Given the description of an element on the screen output the (x, y) to click on. 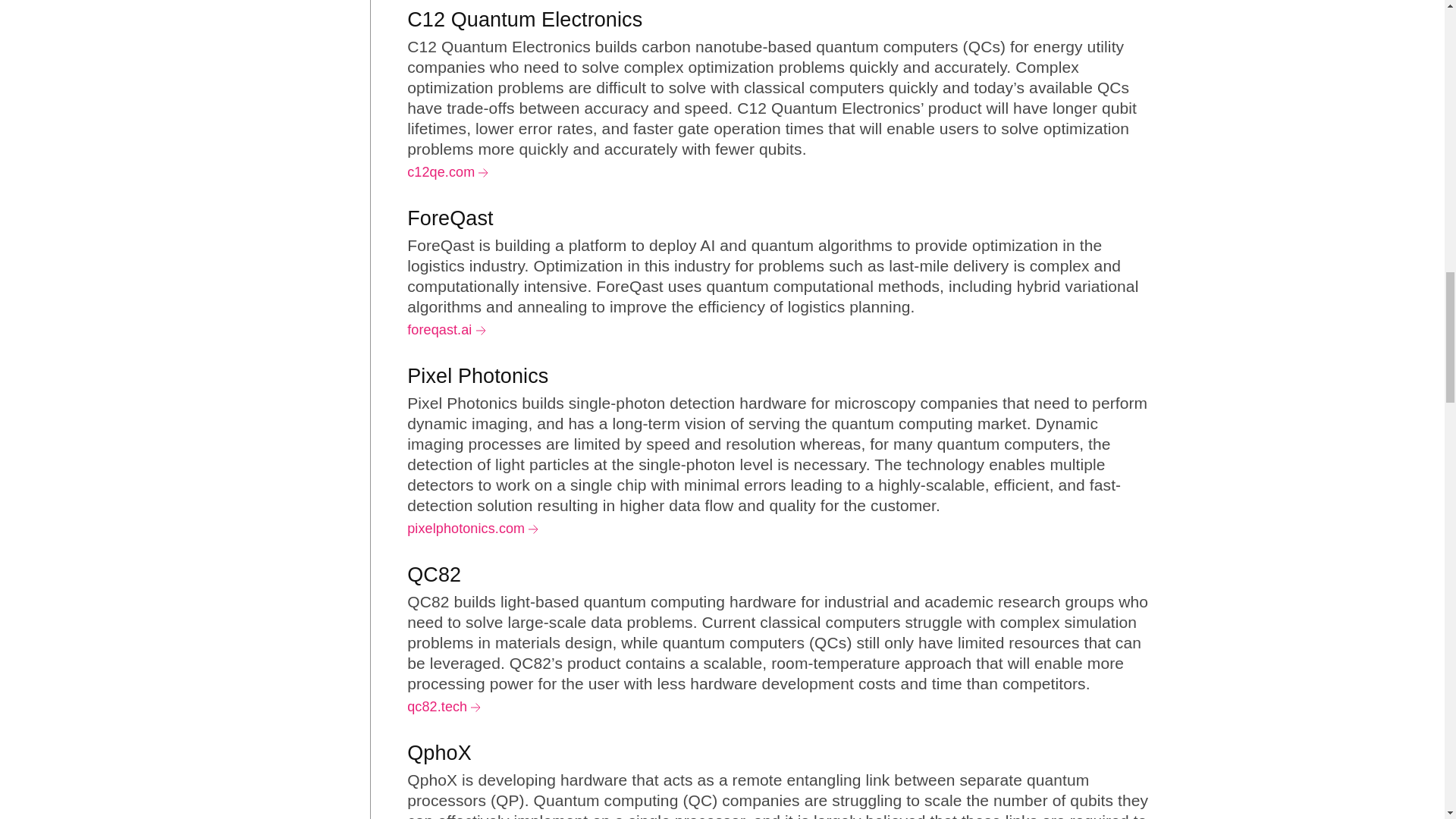
foreqast.ai (445, 329)
pixelphotonics.com (472, 528)
qc82.tech (443, 706)
c12qe.com (447, 171)
